Given the description of an element on the screen output the (x, y) to click on. 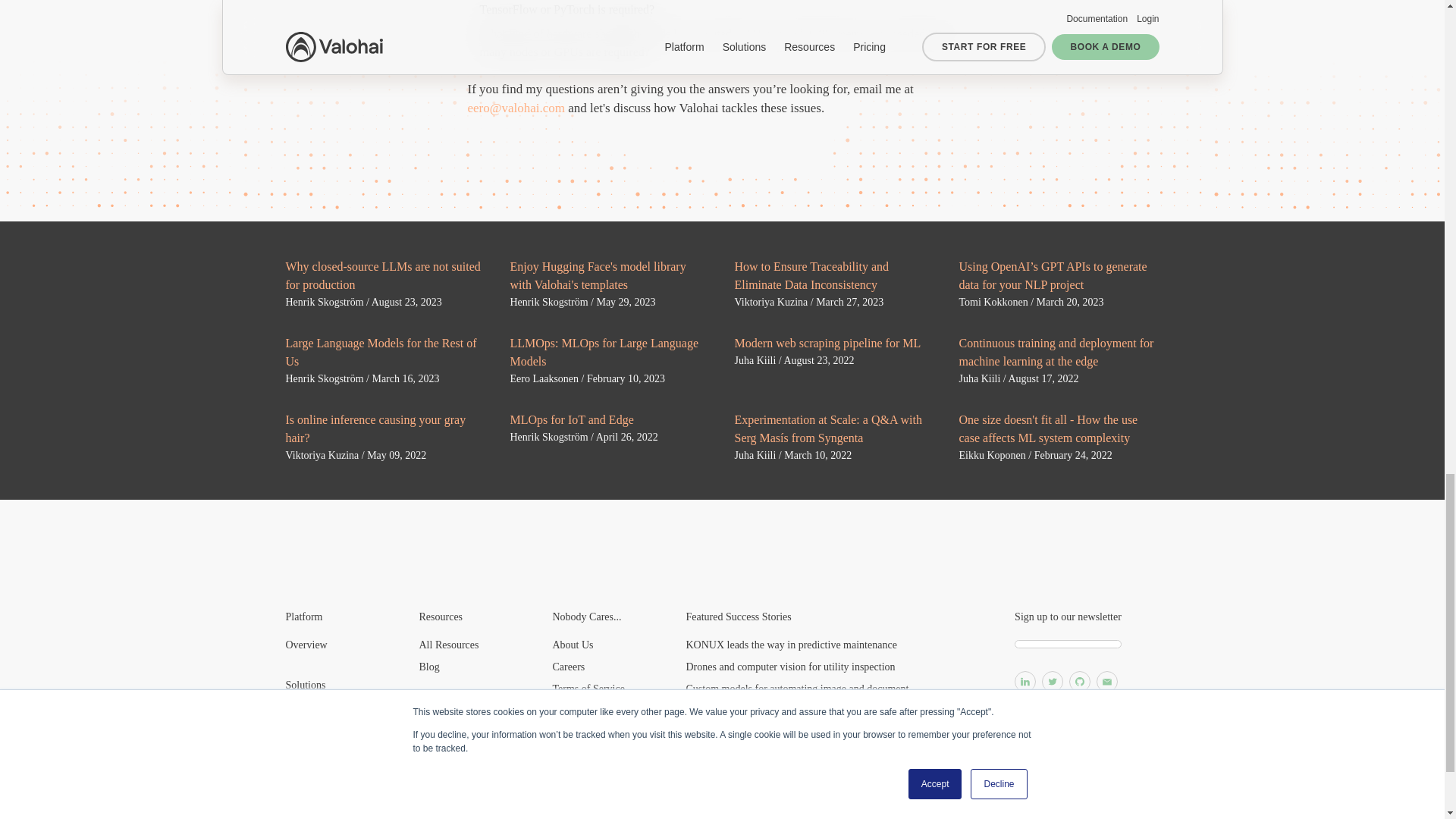
Careers (568, 666)
Documentation (451, 756)
About Us (571, 644)
Why closed-source LLMs are not suited for production (382, 275)
Terms of Service (587, 688)
All Resources (449, 644)
Privacy Policy (582, 710)
MLOps for IoT and Edge (571, 419)
Modern web scraping pipeline for ML (826, 342)
